Given the description of an element on the screen output the (x, y) to click on. 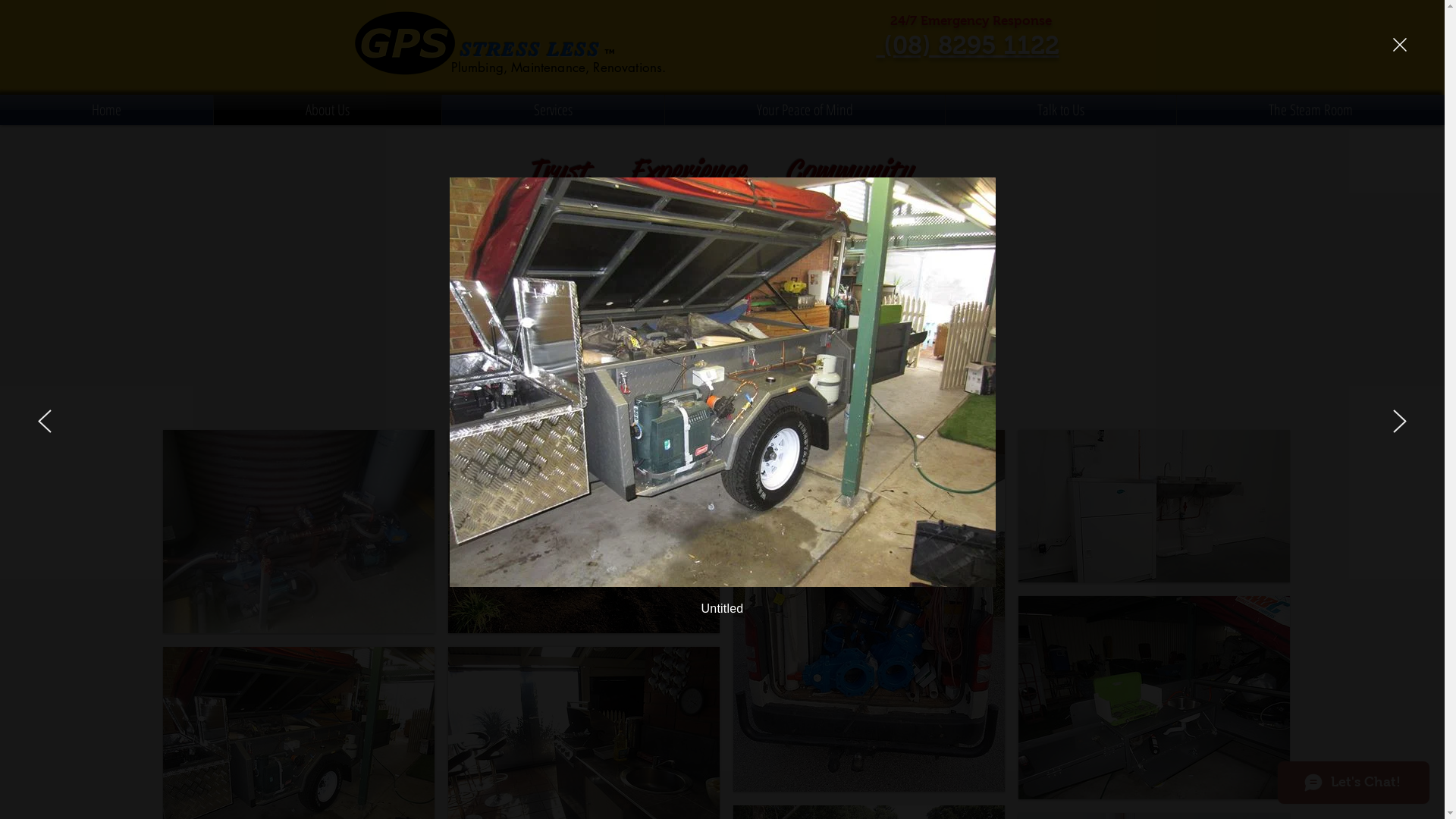
Services Element type: text (553, 109)
Home Element type: text (106, 109)
 (08) 8295 1122 Element type: text (967, 44)
Embedded Content Element type: hover (445, 42)
Your Peace of Mind Element type: text (804, 109)
Talk to Us Element type: text (1060, 109)
Facebook Like Element type: hover (1020, 72)
About Us Element type: text (327, 109)
The Steam Room Element type: text (1310, 109)
